Given the description of an element on the screen output the (x, y) to click on. 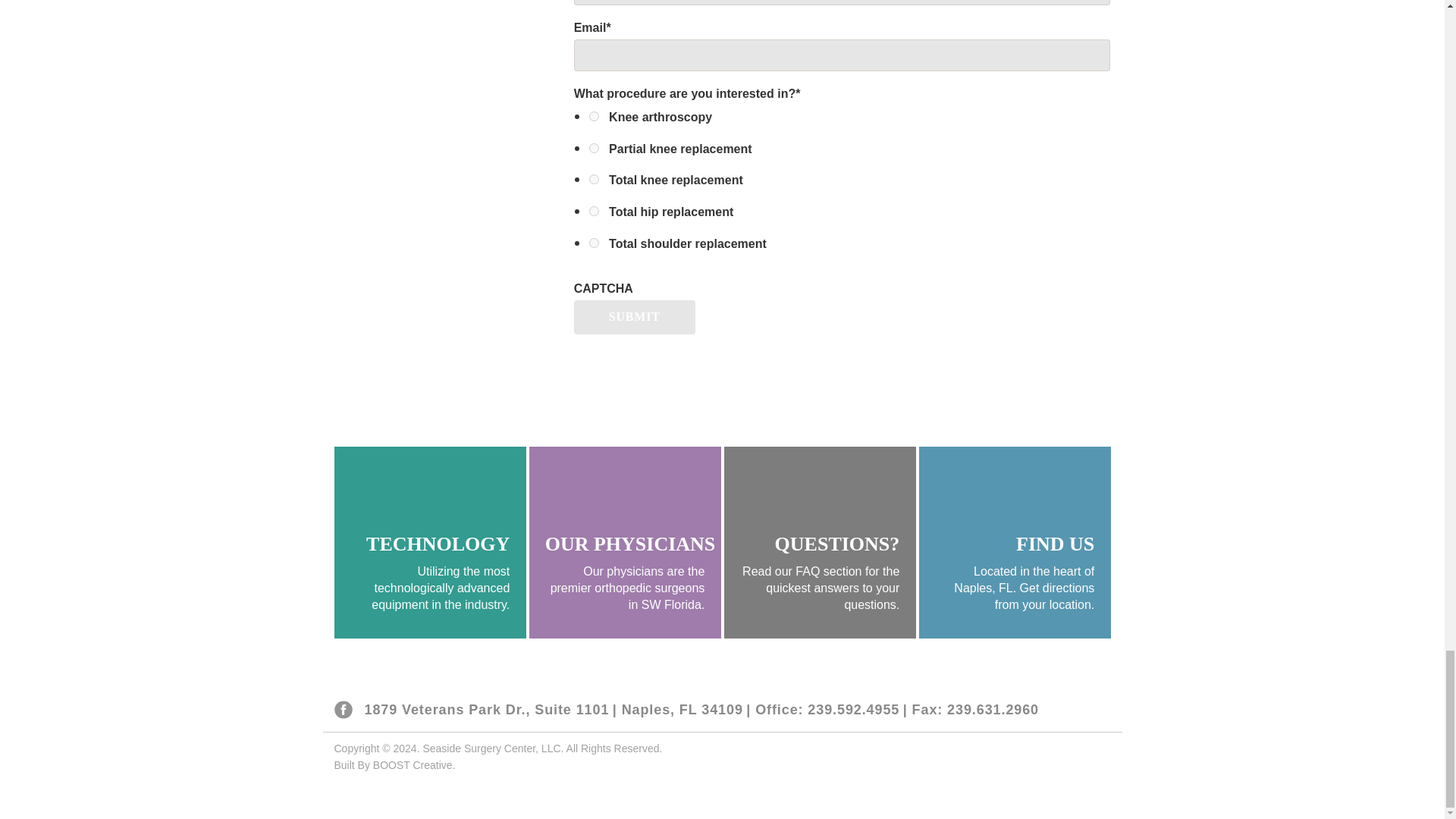
Submit (634, 317)
Partial knee replacement (593, 148)
Total hip replacement (593, 211)
Total knee replacement (593, 179)
Knee arthroscopy (593, 116)
Total shoulder replacement (593, 243)
